Given the description of an element on the screen output the (x, y) to click on. 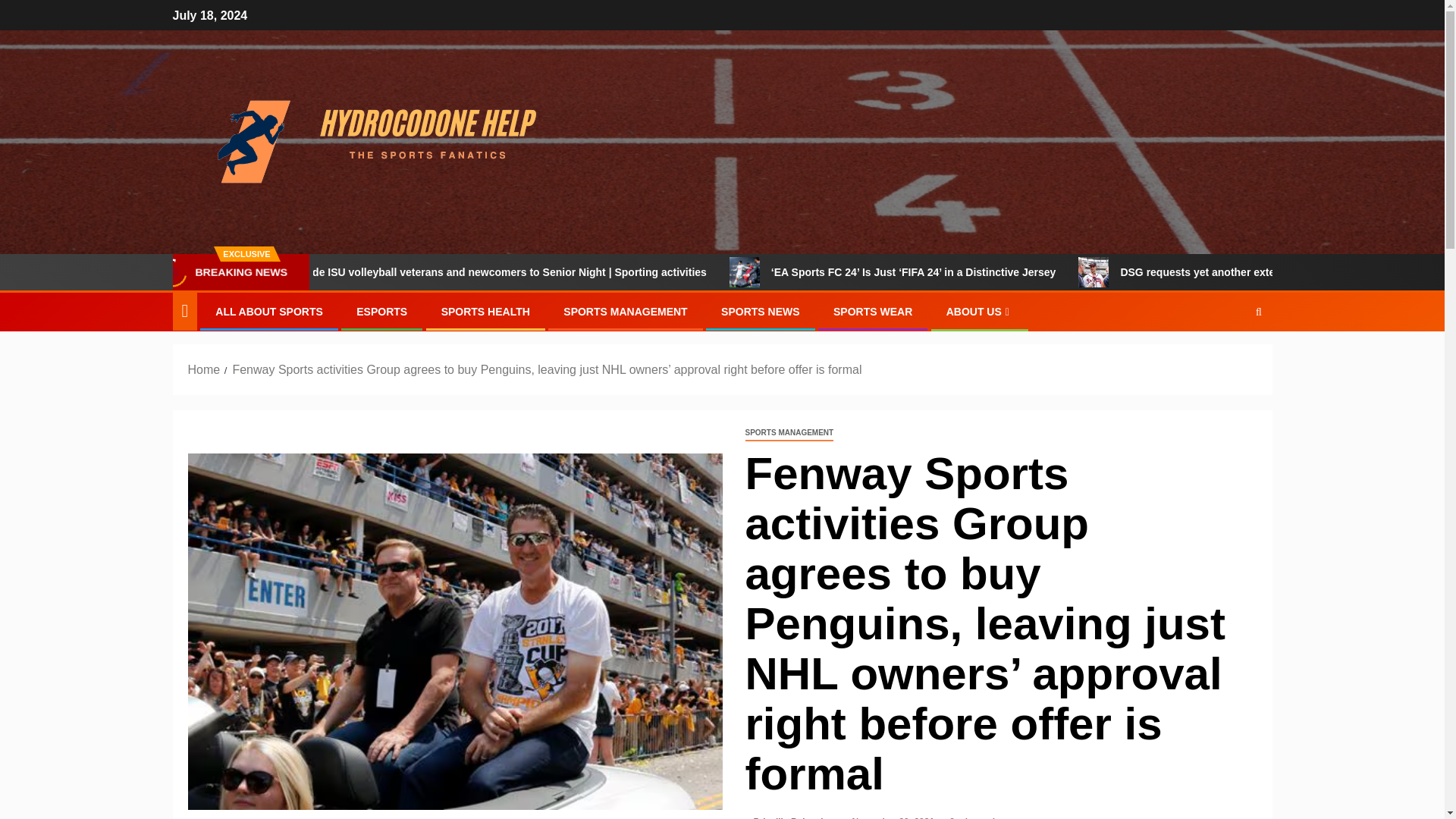
SPORTS MANAGEMENT (788, 433)
ESPORTS (381, 311)
SPORTS WEAR (872, 311)
SPORTS HEALTH (485, 311)
Home (204, 369)
SPORTS NEWS (759, 311)
Priscilla Polansky (793, 817)
Search (1229, 358)
SPORTS MANAGEMENT (625, 311)
ABOUT US (979, 311)
Search (1258, 311)
ALL ABOUT SPORTS (269, 311)
